Given the description of an element on the screen output the (x, y) to click on. 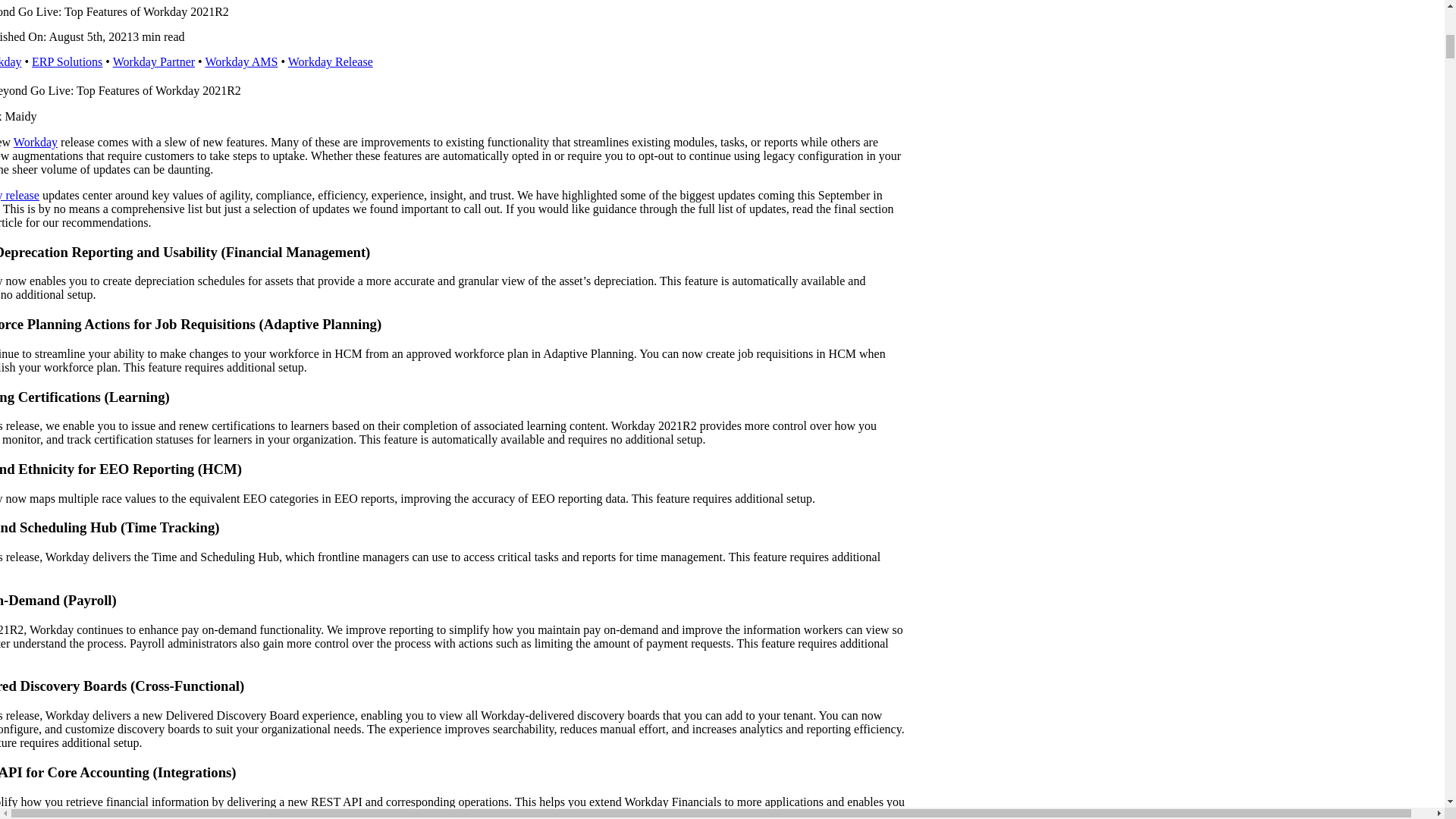
62 topics (241, 61)
Posts tagged with Workday Release (19, 195)
Posts tagged with Workday (35, 141)
106 topics (66, 61)
82 topics (10, 61)
62 topics (154, 61)
20 topics (330, 61)
Beyond Go Live: Top Features of Workday 2021R2 (120, 90)
